Given the description of an element on the screen output the (x, y) to click on. 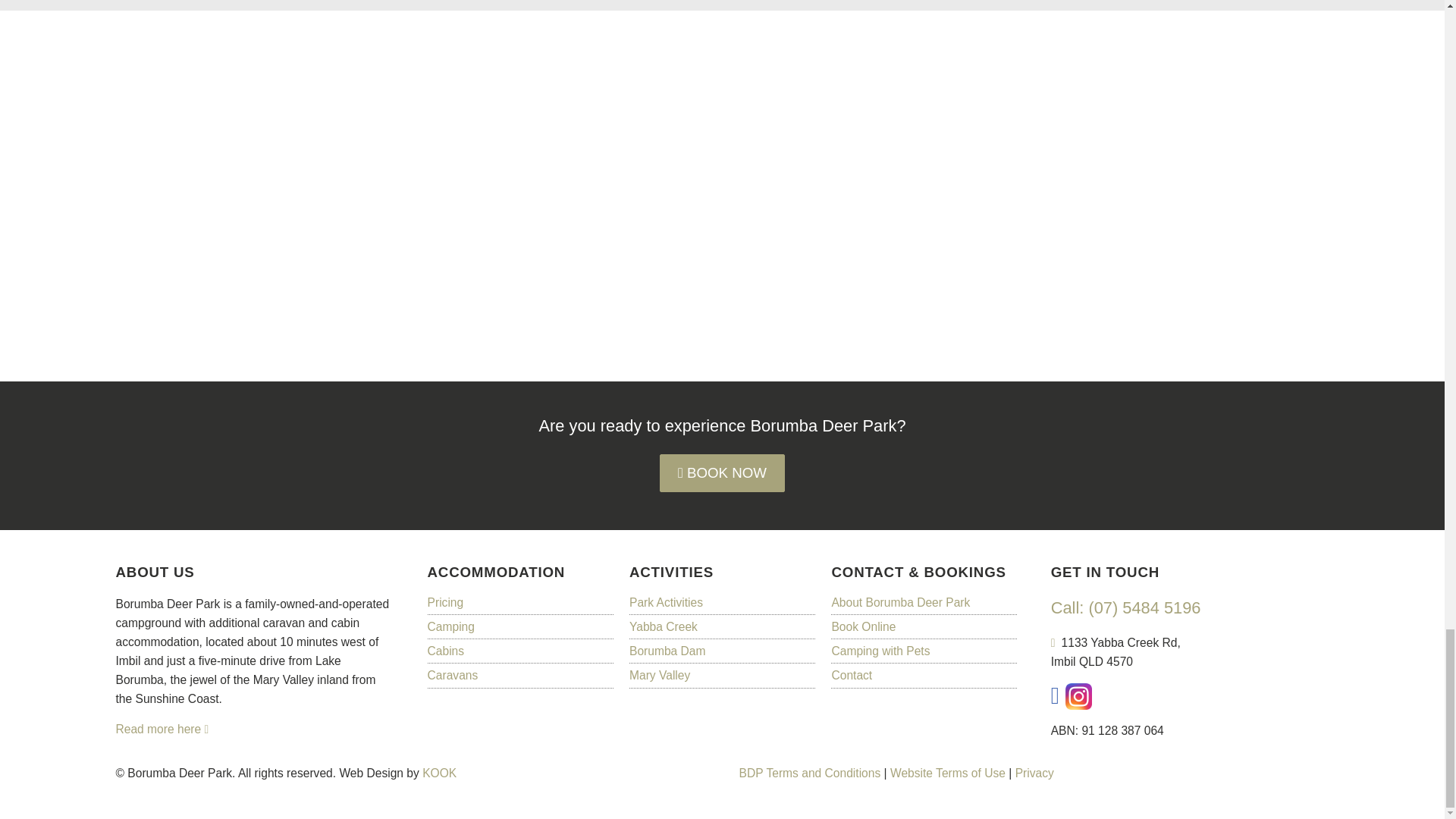
Specials (923, 602)
Events (721, 602)
Camping with Pets (923, 650)
Borumba Dam (721, 650)
Yabba Creek (721, 626)
Caravans (520, 675)
Camping (520, 626)
Call Borumba Deer Park (1126, 608)
Pricing (520, 602)
Contact (923, 675)
Cabins (520, 650)
Book Online (923, 626)
Mary Valley (721, 675)
